Given the description of an element on the screen output the (x, y) to click on. 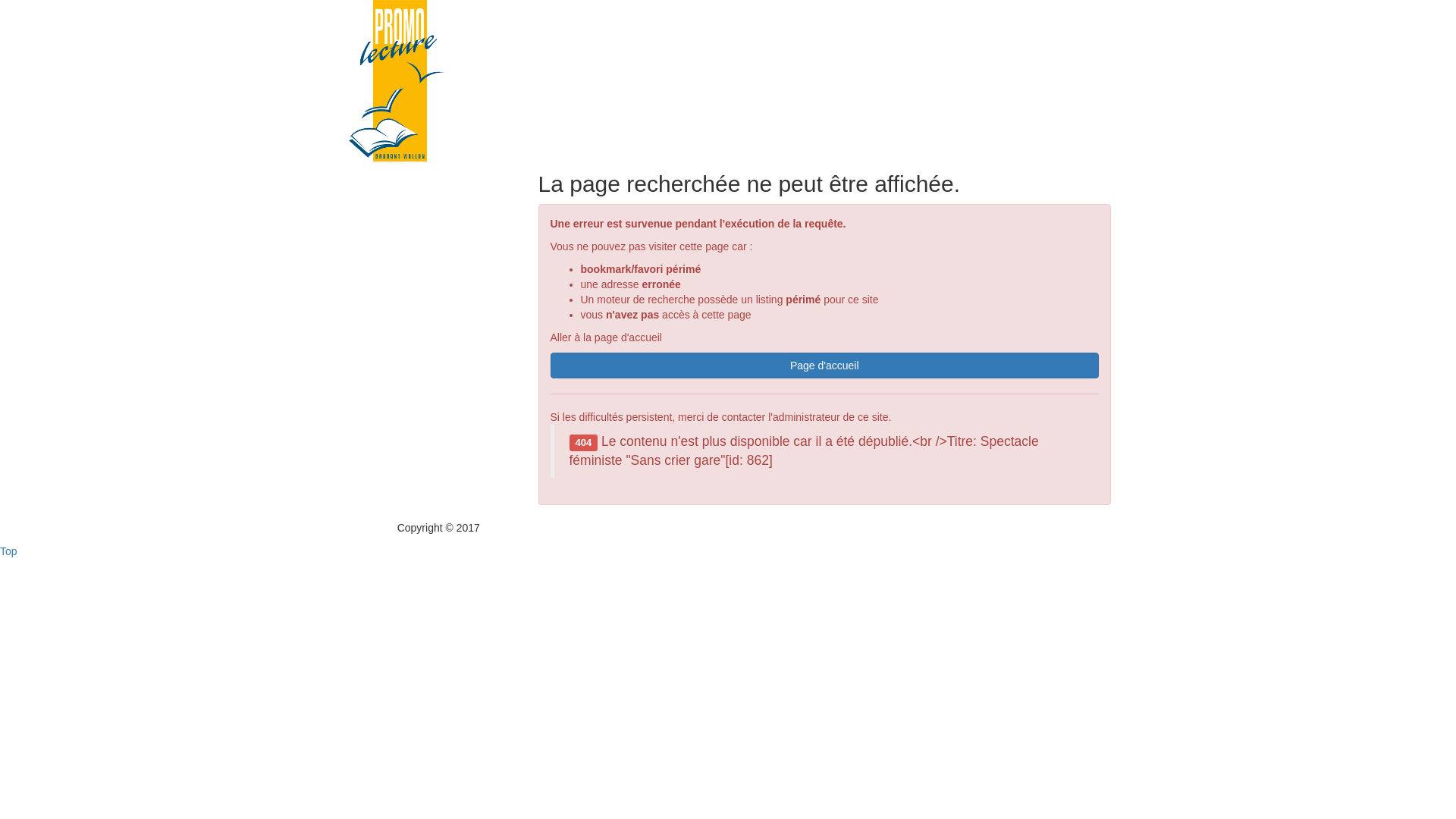
Page d'accueil Element type: text (824, 365)
Top Element type: text (8, 551)
